Given the description of an element on the screen output the (x, y) to click on. 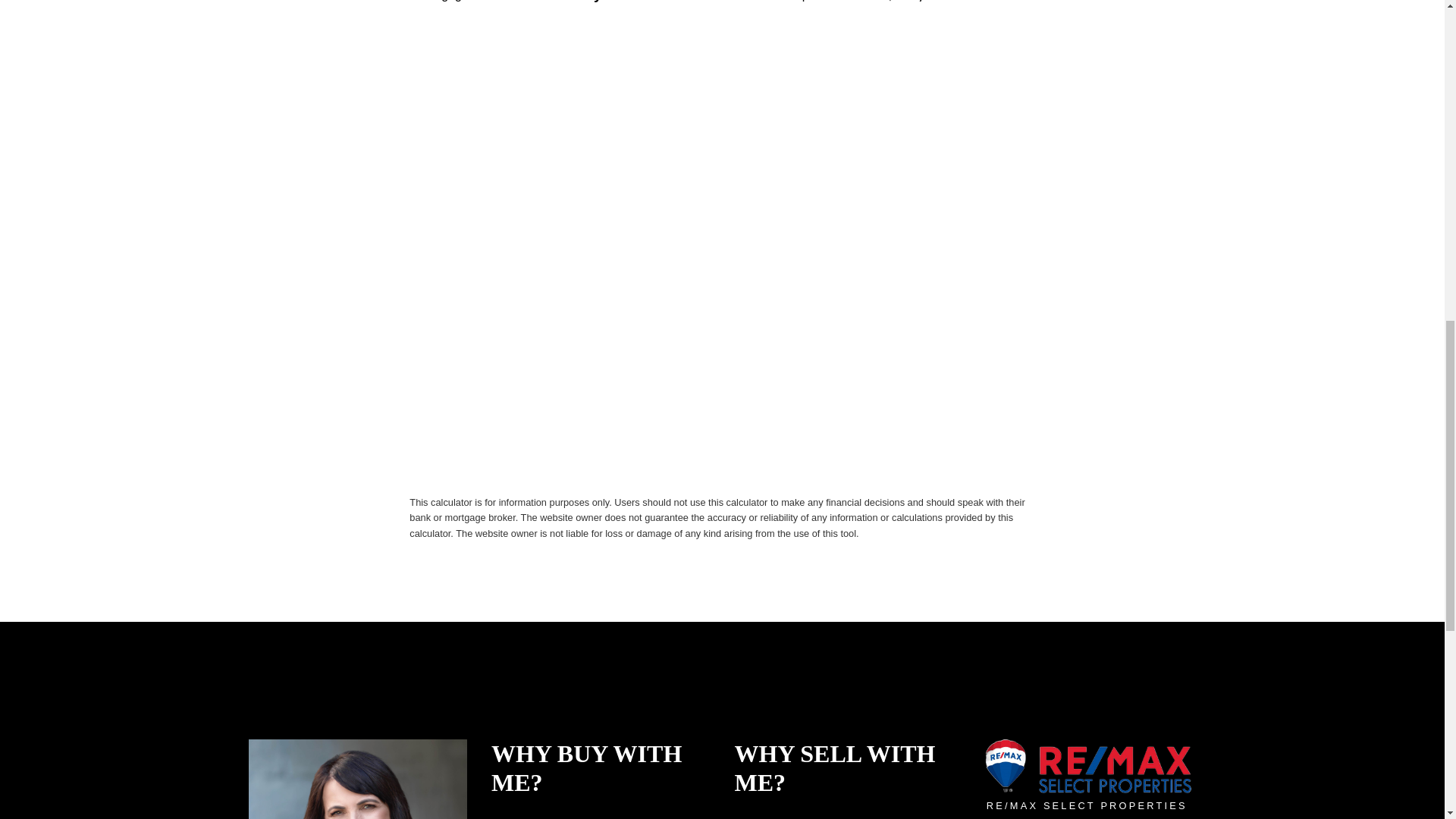
term (644, 7)
totalInterest (957, 7)
